Given the description of an element on the screen output the (x, y) to click on. 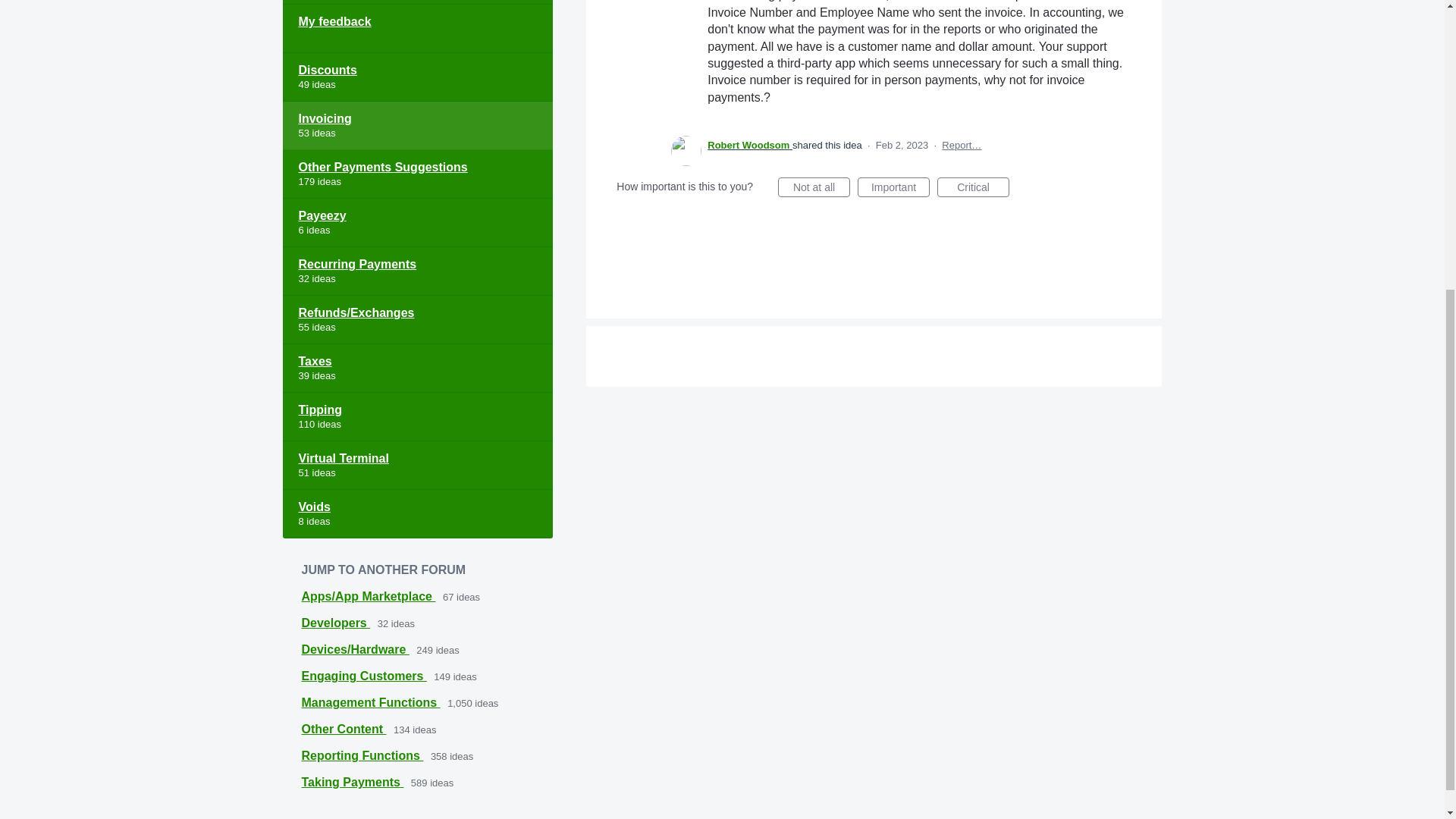
Reporting Functions (362, 755)
View all ideas in category Virtual Terminal (417, 465)
View all ideas in category Voids (417, 513)
View all ideas in category Discounts (417, 77)
View all ideas in Engaging Customers (363, 675)
Virtual Terminal (417, 465)
My feedback (417, 28)
Taking Payments (352, 781)
Discounts (417, 77)
Engaging Customers (363, 675)
View all ideas in Management Functions (371, 702)
View all ideas in Other Content (344, 728)
Taxes (417, 368)
Other Content (344, 728)
All ideas (417, 2)
